Given the description of an element on the screen output the (x, y) to click on. 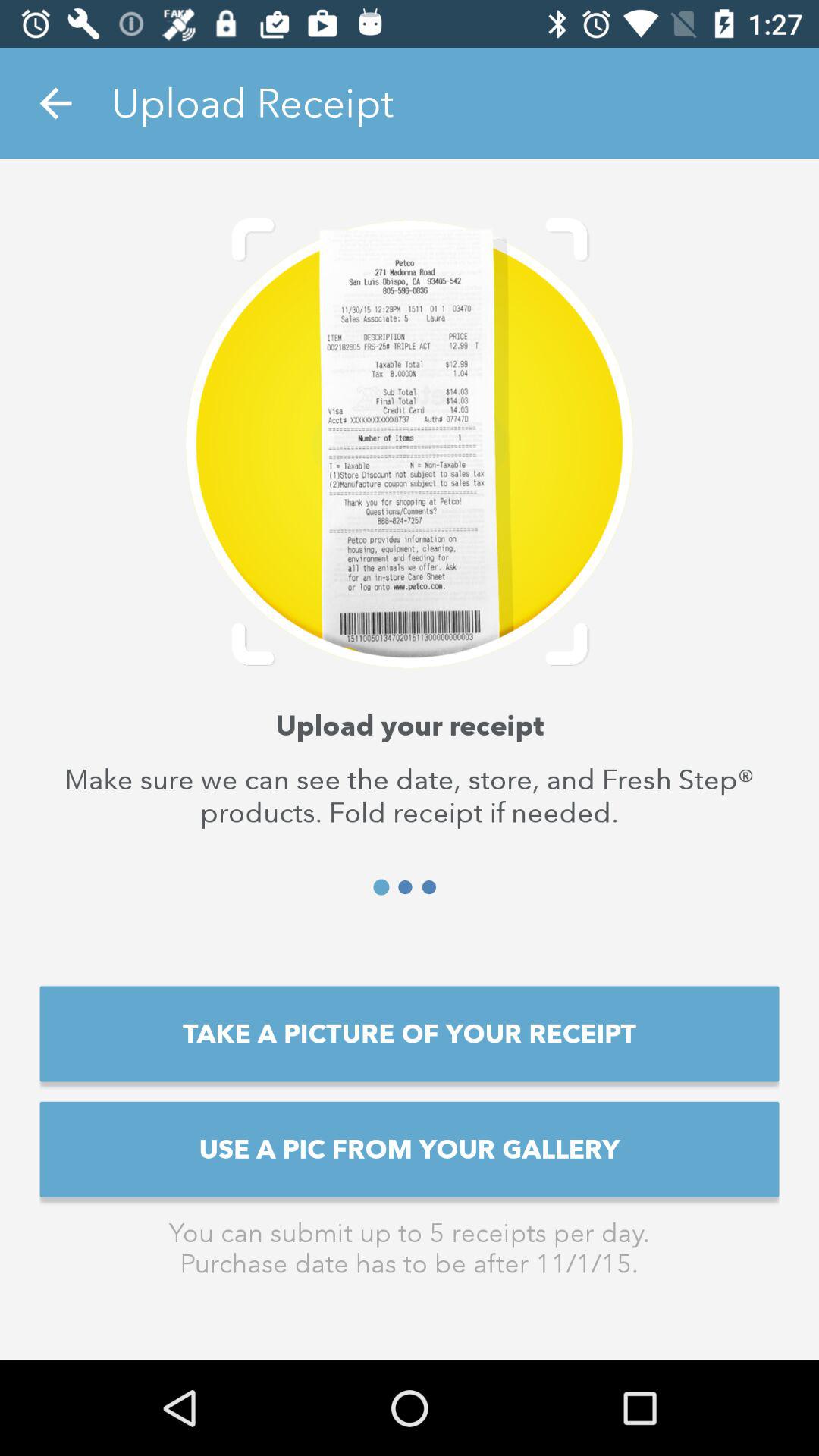
click the item above upload your receipt (55, 103)
